Given the description of an element on the screen output the (x, y) to click on. 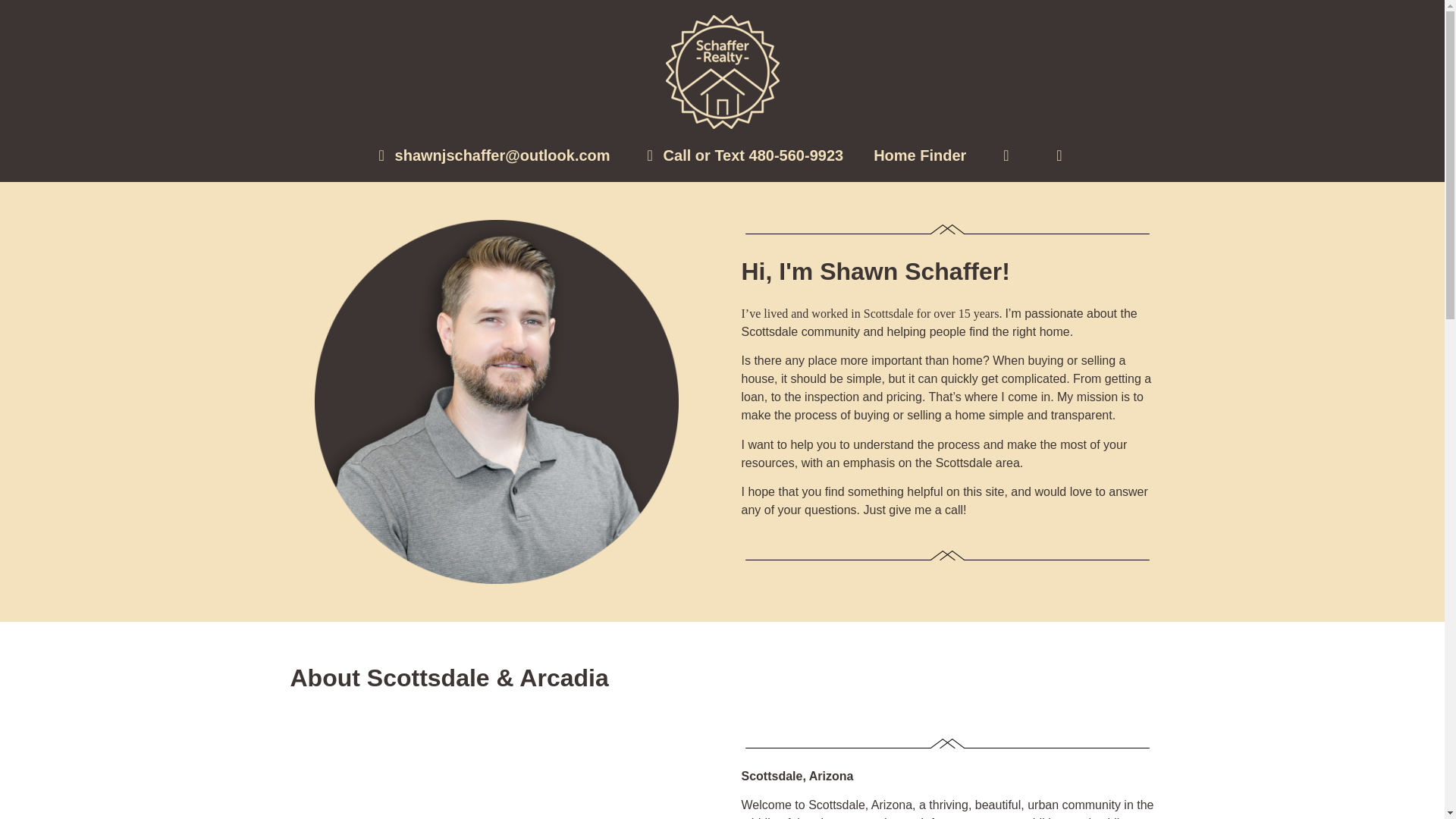
Scottsdale, AZ (496, 776)
Home Finder (919, 155)
Call or Text 480-560-9923 (742, 155)
